Given the description of an element on the screen output the (x, y) to click on. 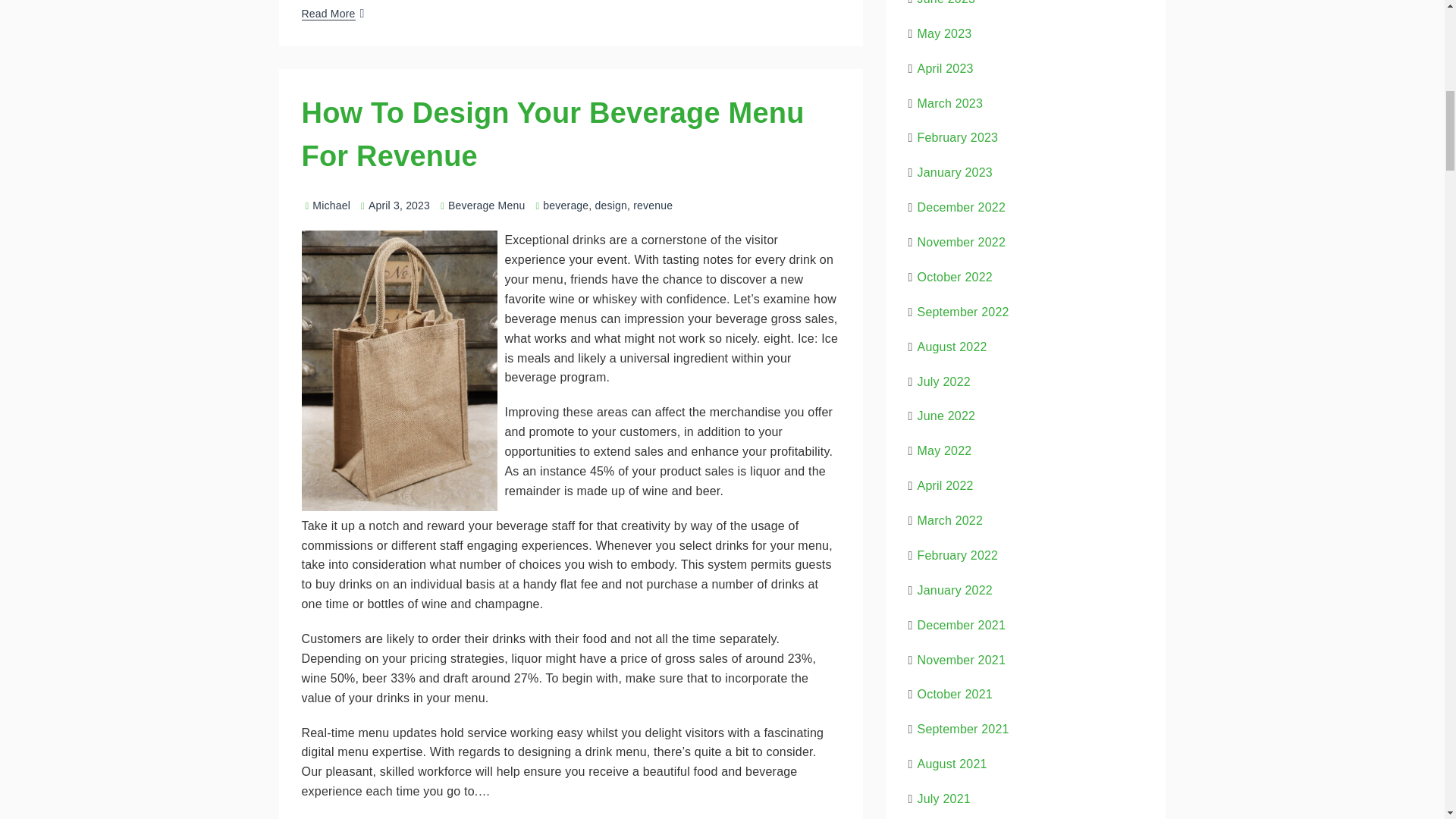
Beverage Menu (486, 205)
April 3, 2023 (398, 205)
Michael (326, 205)
revenue (652, 205)
How To Design Your Beverage Menu For Revenue (553, 134)
Read More (328, 13)
design (611, 205)
beverage (565, 205)
